Given the description of an element on the screen output the (x, y) to click on. 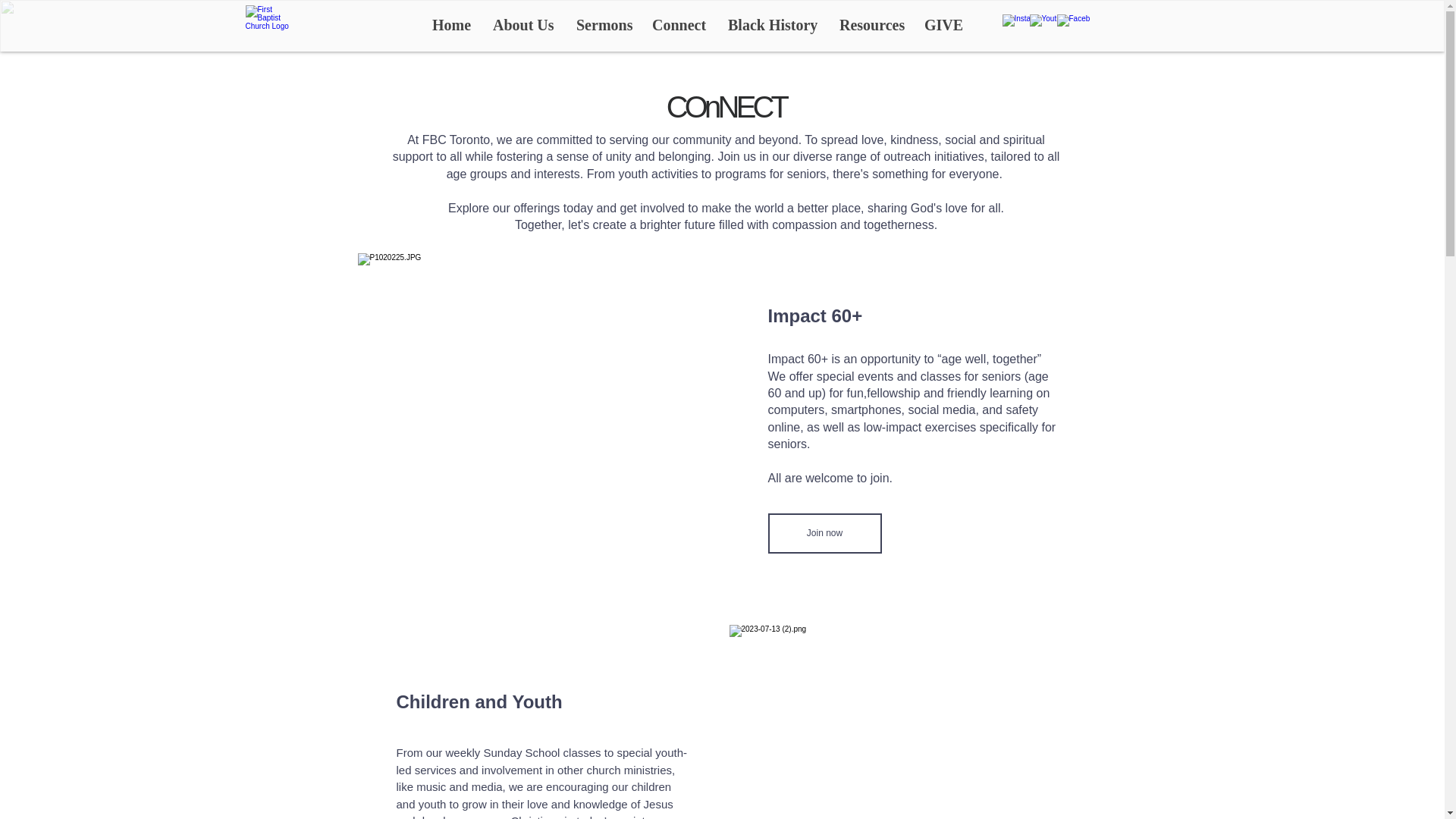
Join now (823, 533)
Sermons (602, 24)
Resources (870, 24)
About Us (522, 24)
Black History (772, 24)
Connect (678, 24)
Home (450, 24)
GIVE (941, 24)
